Given the description of an element on the screen output the (x, y) to click on. 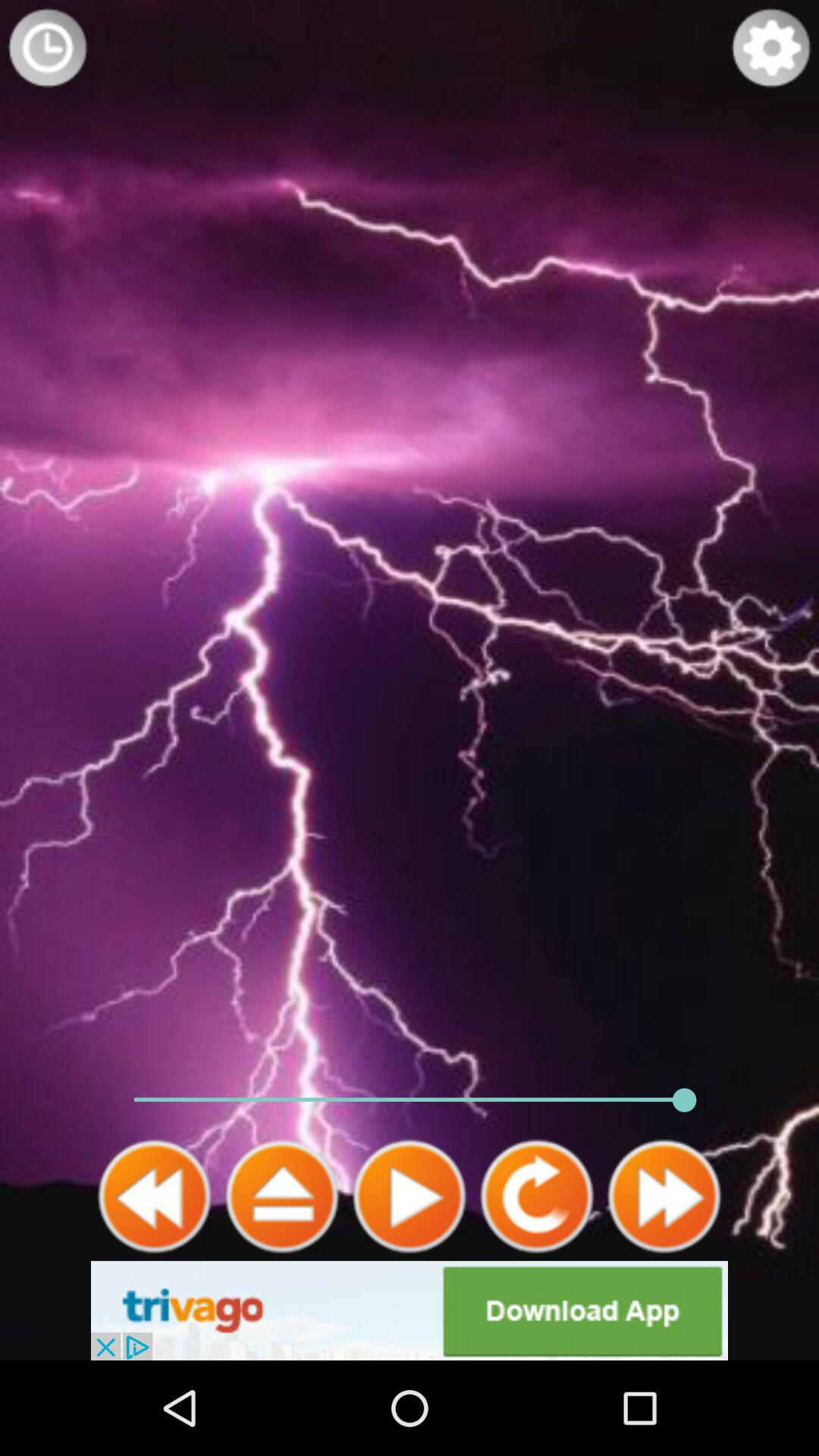
loading icon (47, 47)
